Given the description of an element on the screen output the (x, y) to click on. 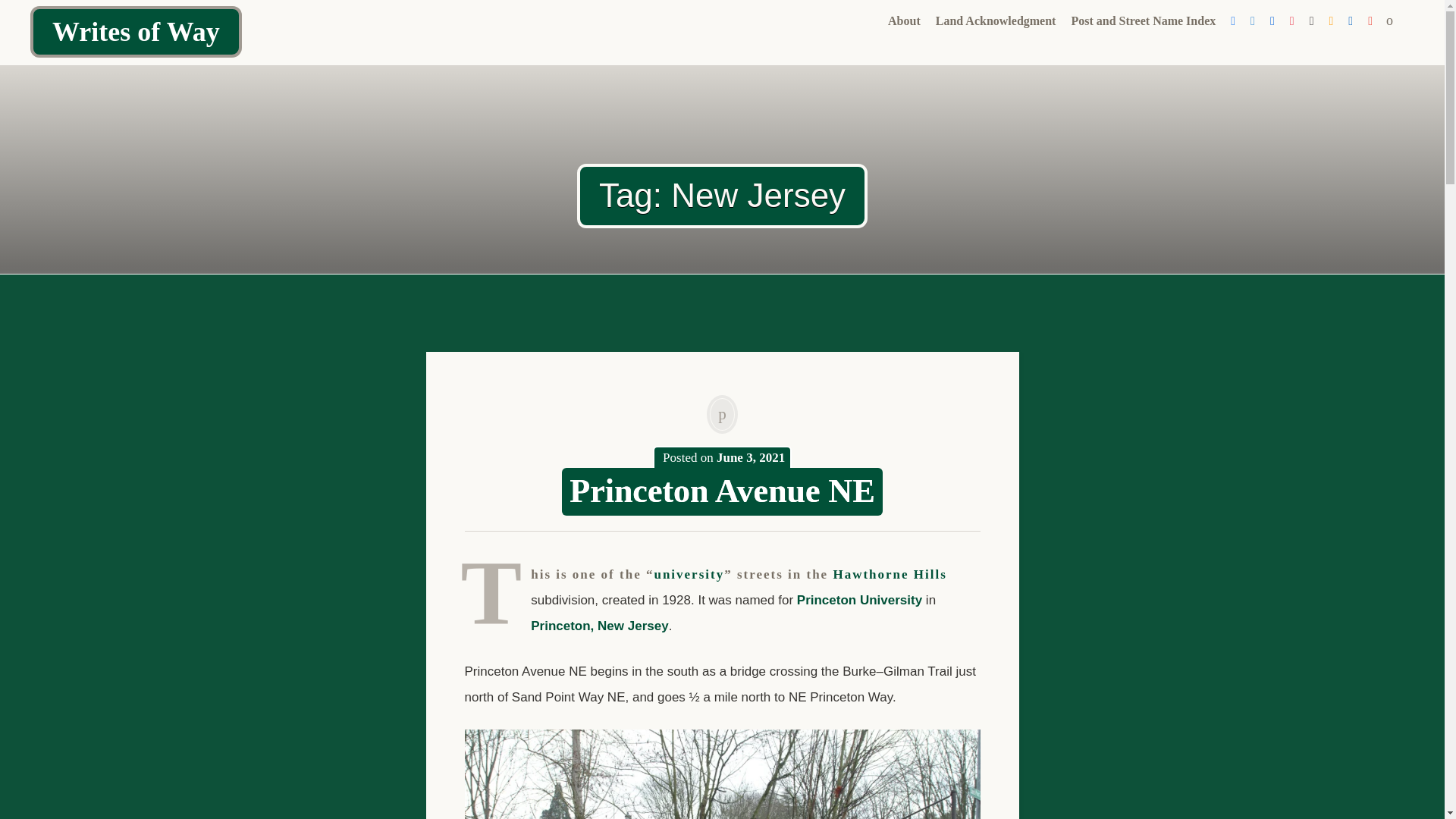
Search (11, 9)
Writes of Way (135, 31)
Princeton, New Jersey (599, 626)
Princeton University (858, 599)
Princeton Avenue NE (722, 490)
Writes of Way (135, 31)
Hawthorne Hills (889, 574)
university (688, 574)
About (904, 21)
Post and Street Name Index (1142, 21)
Land Acknowledgment (996, 21)
June 3, 2021 (750, 457)
